Given the description of an element on the screen output the (x, y) to click on. 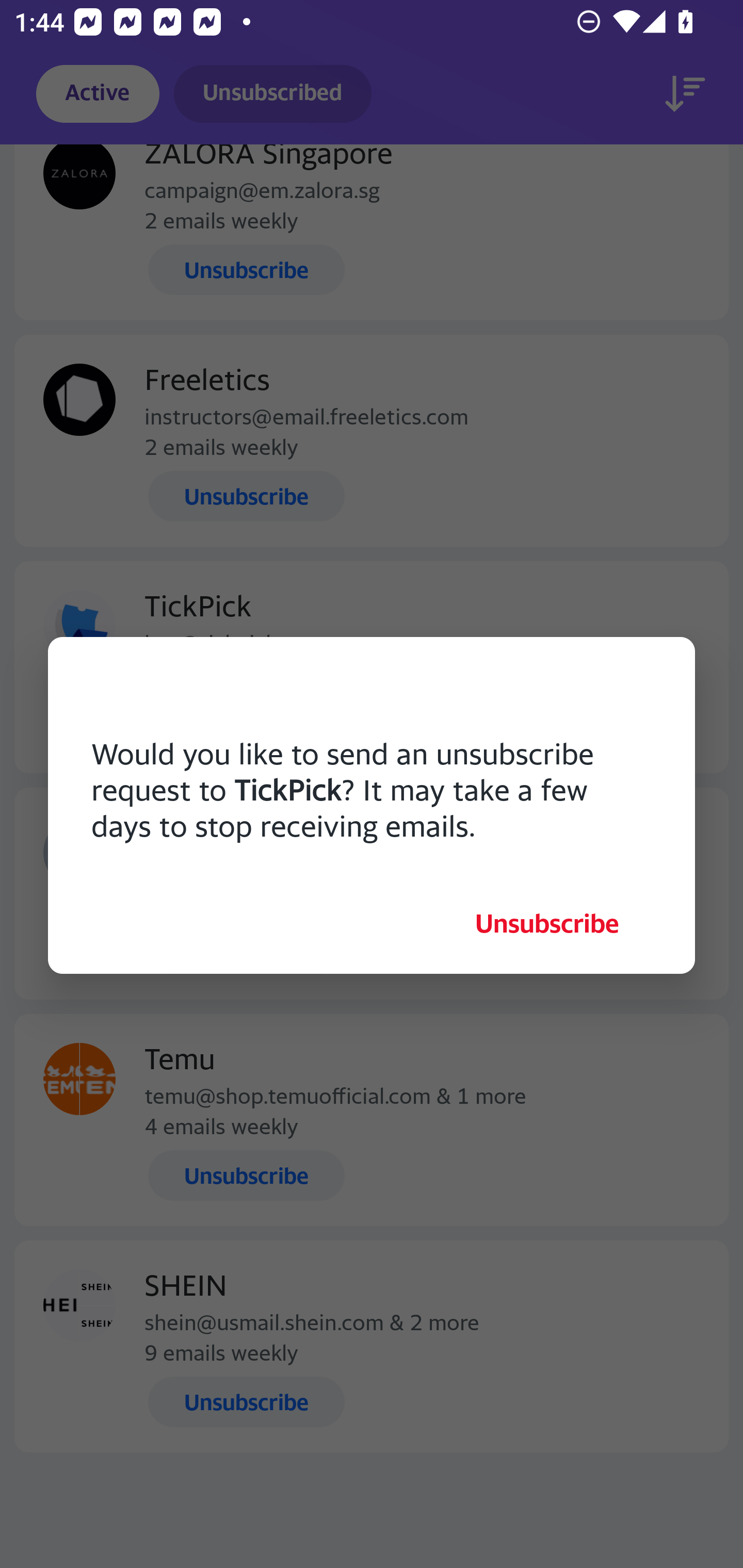
Unsubscribe (546, 923)
